Given the description of an element on the screen output the (x, y) to click on. 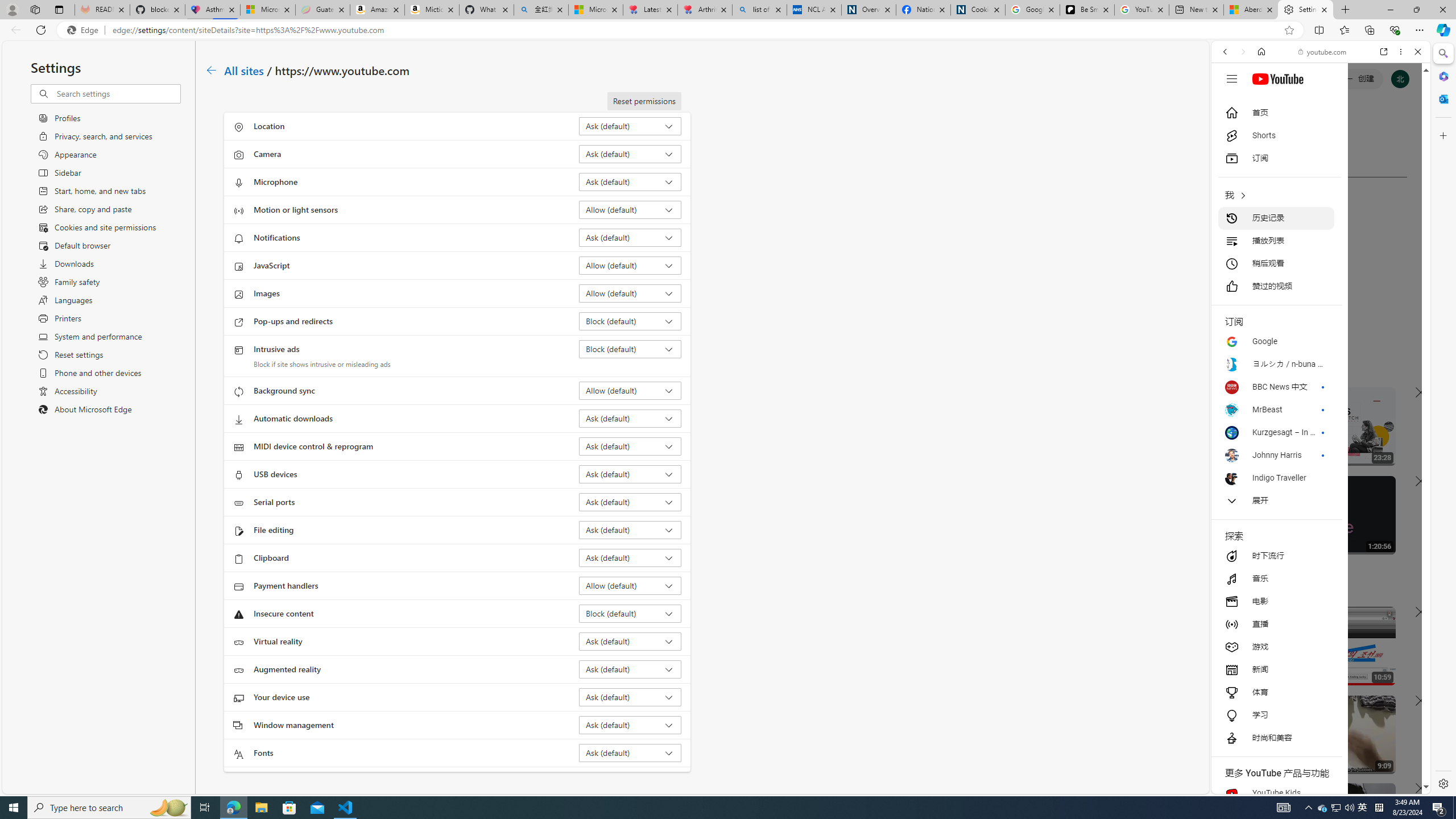
Intrusive ads Block (default) (630, 348)
Music (1320, 309)
JavaScript Allow (default) (630, 265)
